Given the description of an element on the screen output the (x, y) to click on. 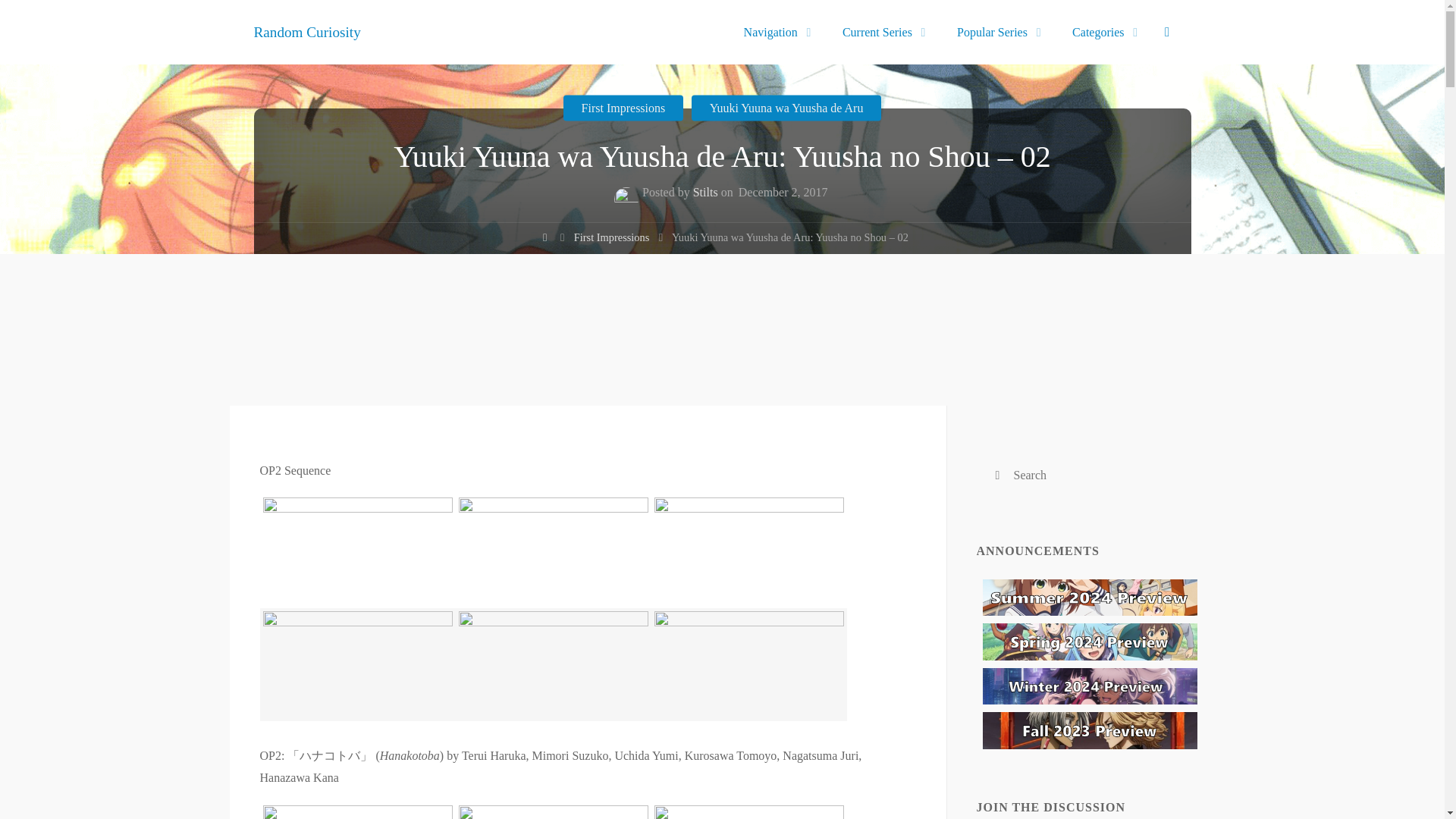
Random Curiosity (306, 31)
Navigation (772, 32)
Daily Anime Goodness (306, 31)
Current Series (879, 32)
Home (544, 239)
View all posts by Stilts (705, 194)
